Given the description of an element on the screen output the (x, y) to click on. 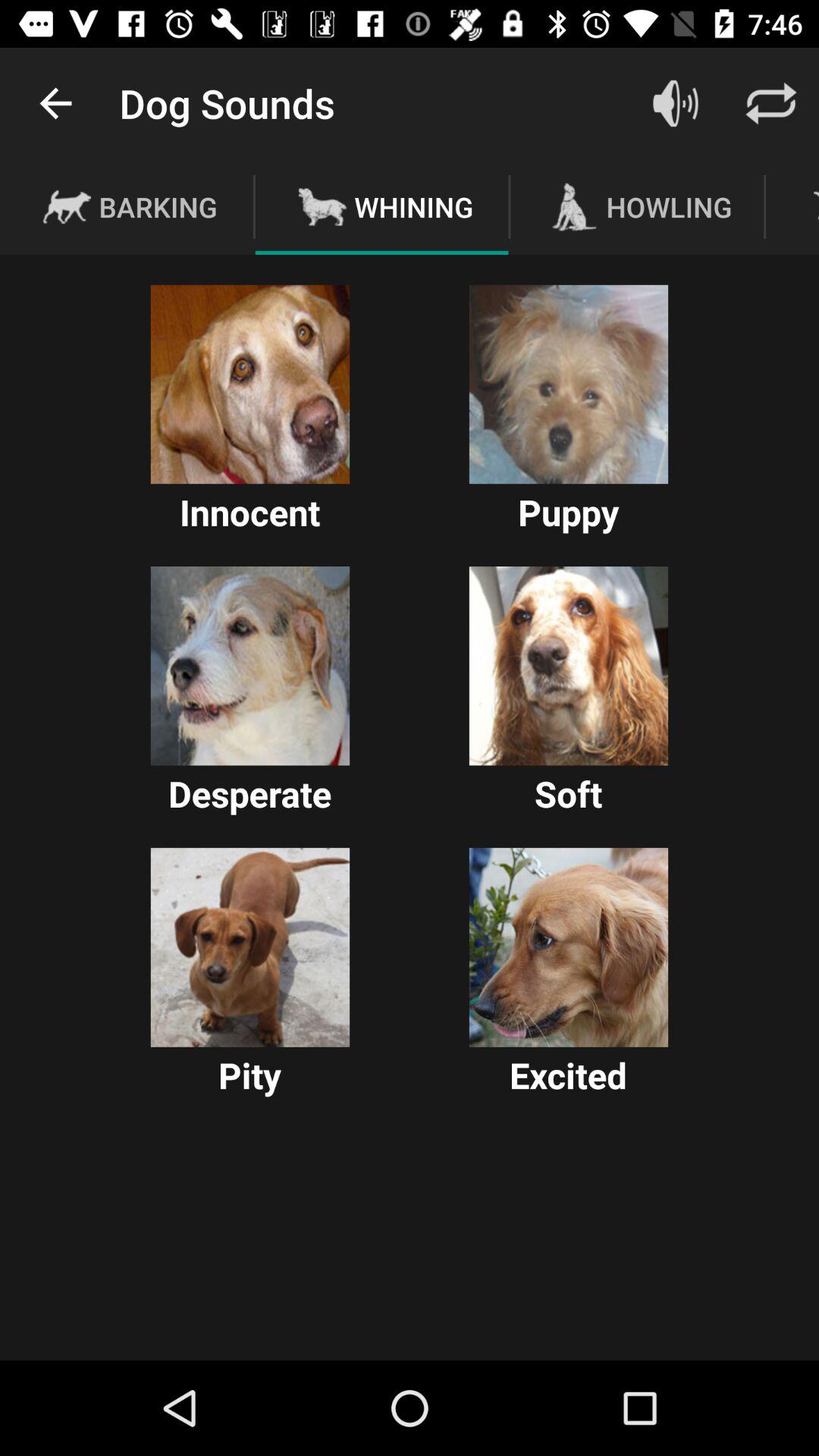
turn off item next to the dog sounds app (55, 103)
